Given the description of an element on the screen output the (x, y) to click on. 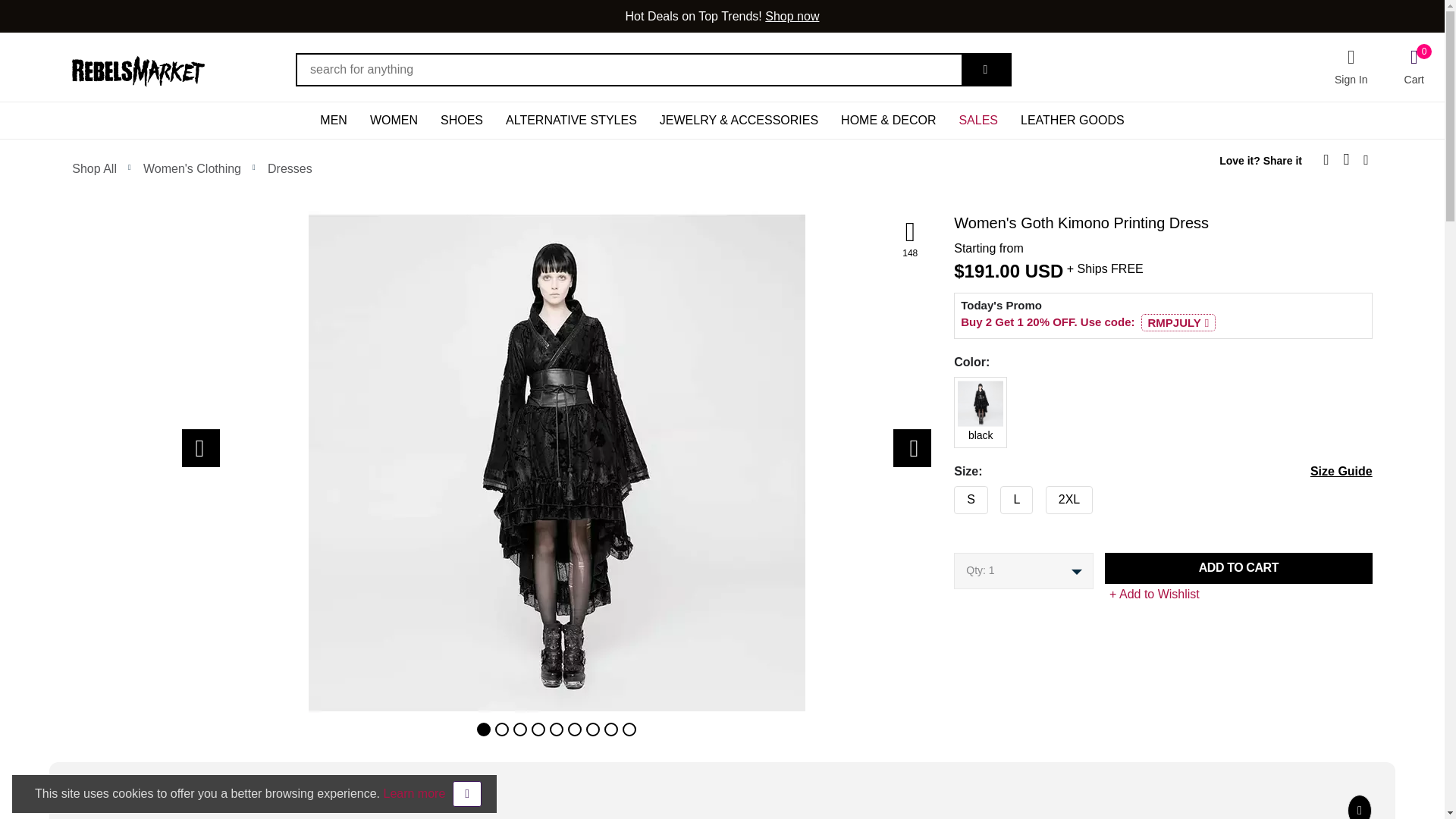
191.00 (991, 271)
black (949, 386)
2XL (949, 496)
WOMEN (393, 119)
Sign In (1351, 66)
MEN (333, 119)
L (949, 496)
USD (1044, 271)
S (949, 496)
